Given the description of an element on the screen output the (x, y) to click on. 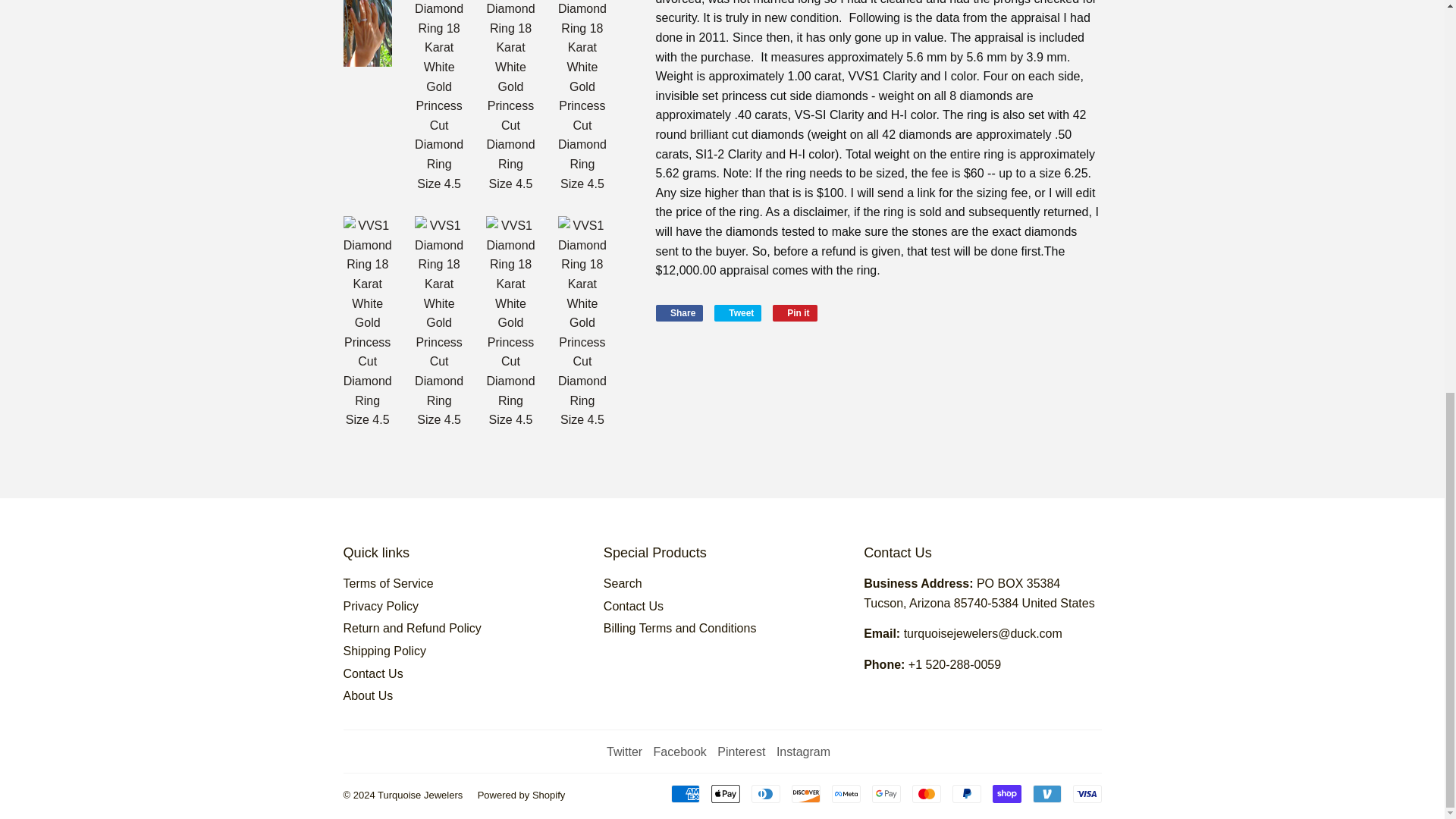
Google Pay (886, 793)
Visa (1085, 793)
Turquoise Jewelers on Instagram (802, 751)
Diners Club (764, 793)
Mastercard (925, 793)
PayPal (966, 793)
Turquoise Jewelers on Pinterest (741, 751)
Venmo (1046, 793)
Apple Pay (725, 793)
Tweet on Twitter (737, 312)
